Given the description of an element on the screen output the (x, y) to click on. 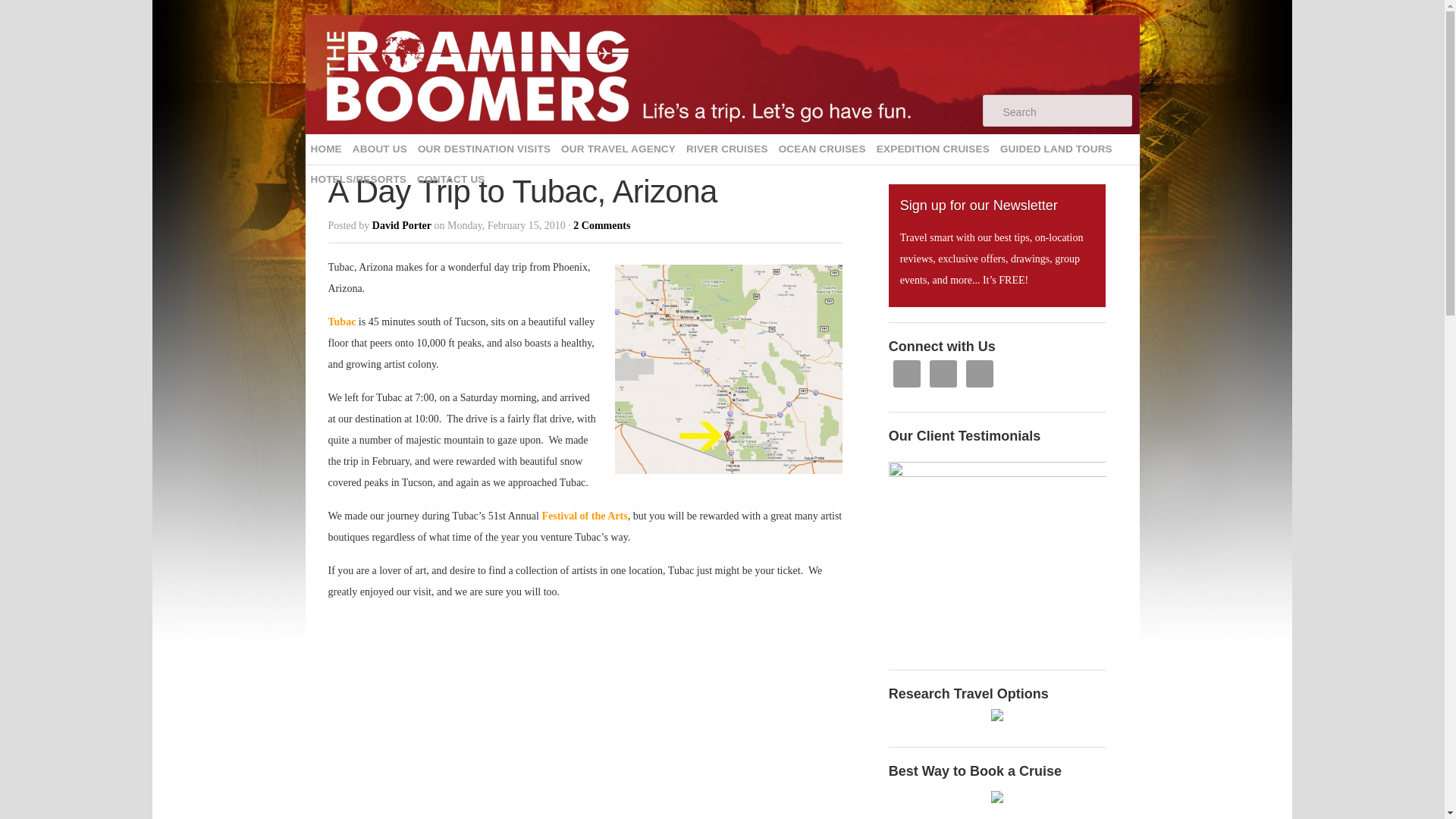
ABOUT US (379, 149)
Tubac Arizona (728, 369)
OUR DESTINATION VISITS (484, 149)
Search (1064, 111)
Posts by David Porter (401, 225)
HOME (325, 149)
